Given the description of an element on the screen output the (x, y) to click on. 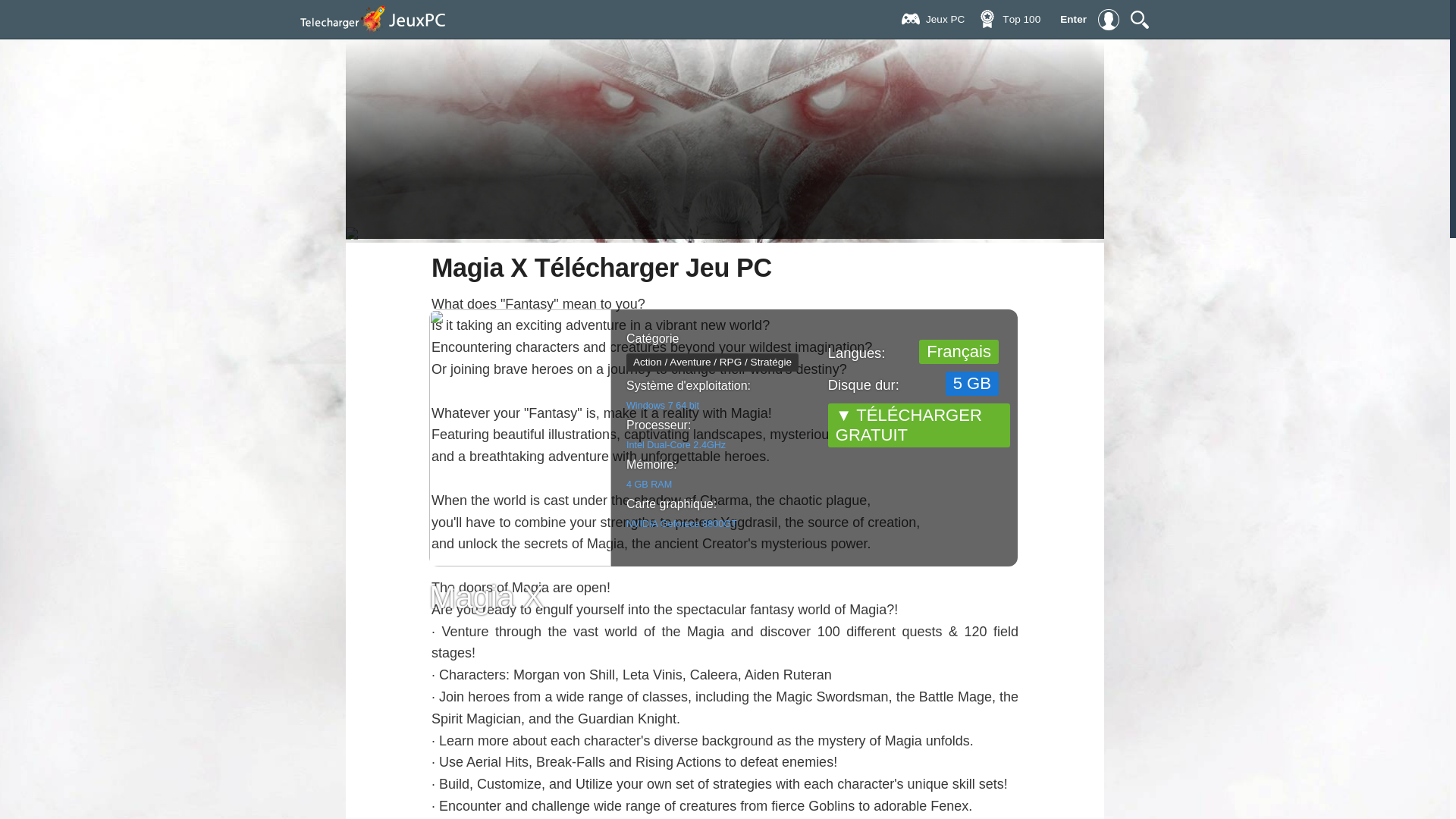
4 GB RAM (648, 484)
Jeux PC (949, 17)
Intel Dual-Core 2.4GHz (675, 444)
Windows 7 64 bit (662, 405)
Enter (1090, 18)
NVIDIA Geforece 8800GT (681, 523)
5 GB (971, 383)
